Given the description of an element on the screen output the (x, y) to click on. 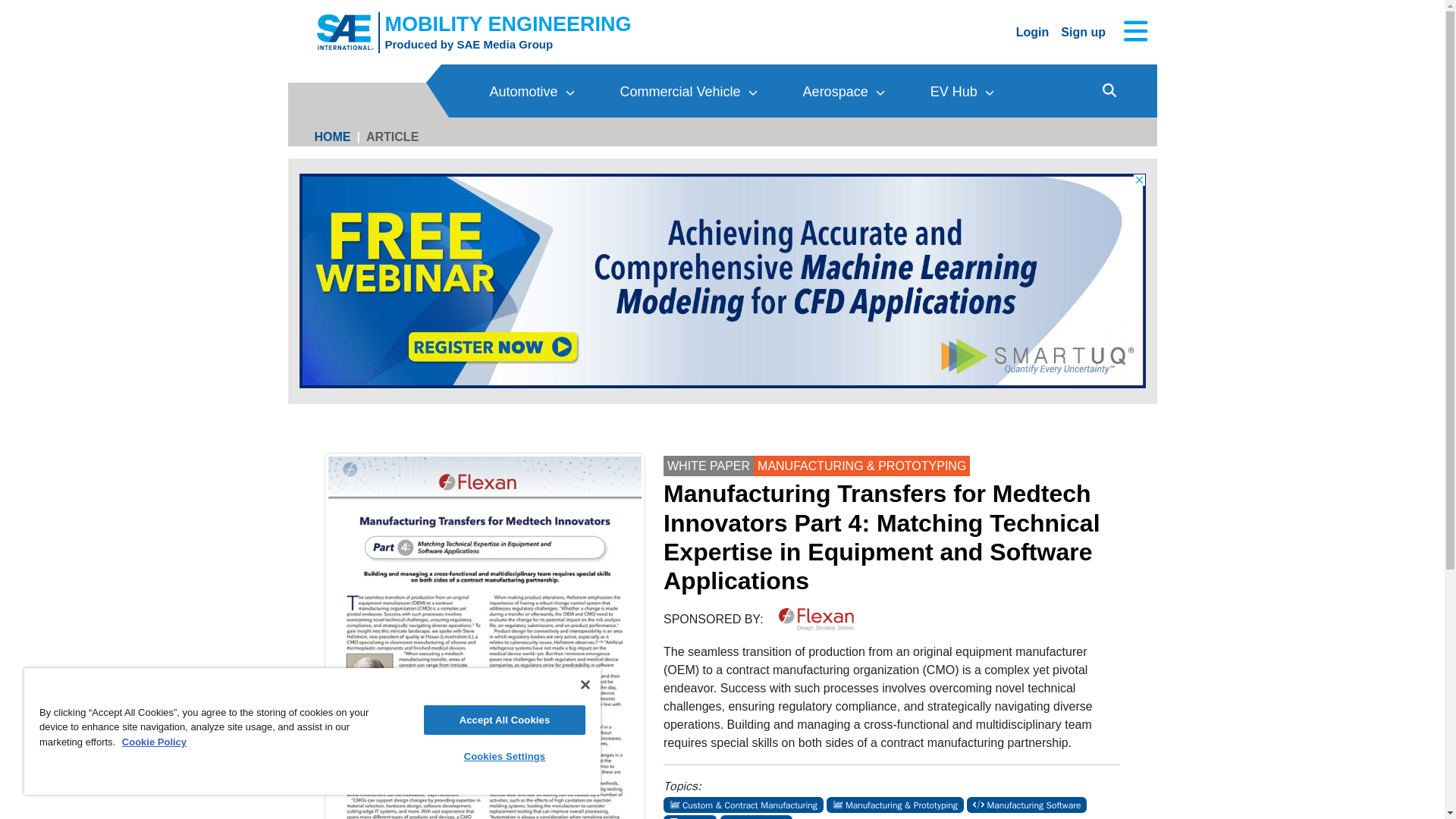
Sign up (1083, 31)
EV Hub (962, 91)
Commercial Vehicle (688, 91)
Login (1032, 31)
Aerospace (844, 91)
Automotive (469, 43)
